Given the description of an element on the screen output the (x, y) to click on. 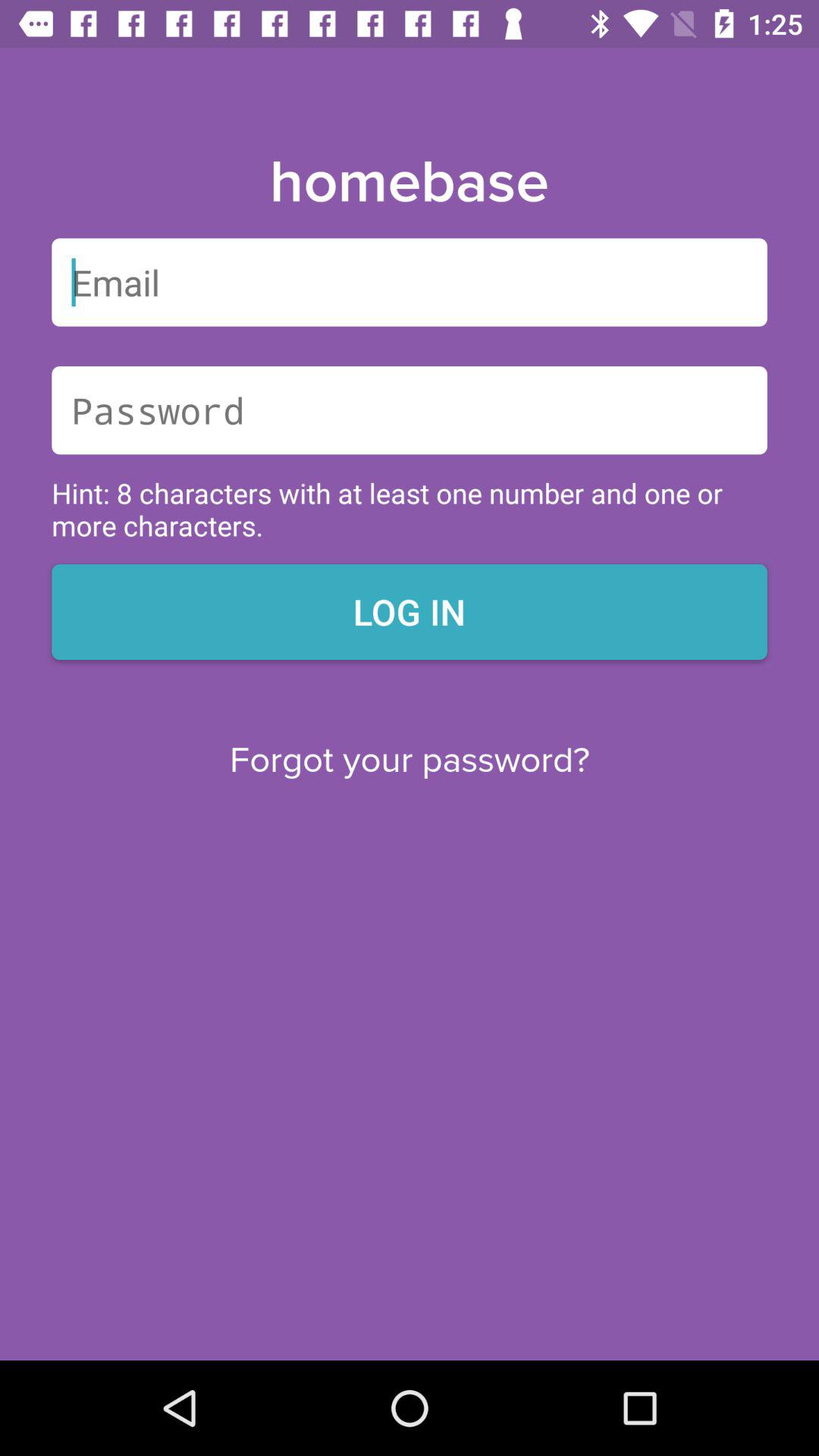
email address (409, 282)
